Given the description of an element on the screen output the (x, y) to click on. 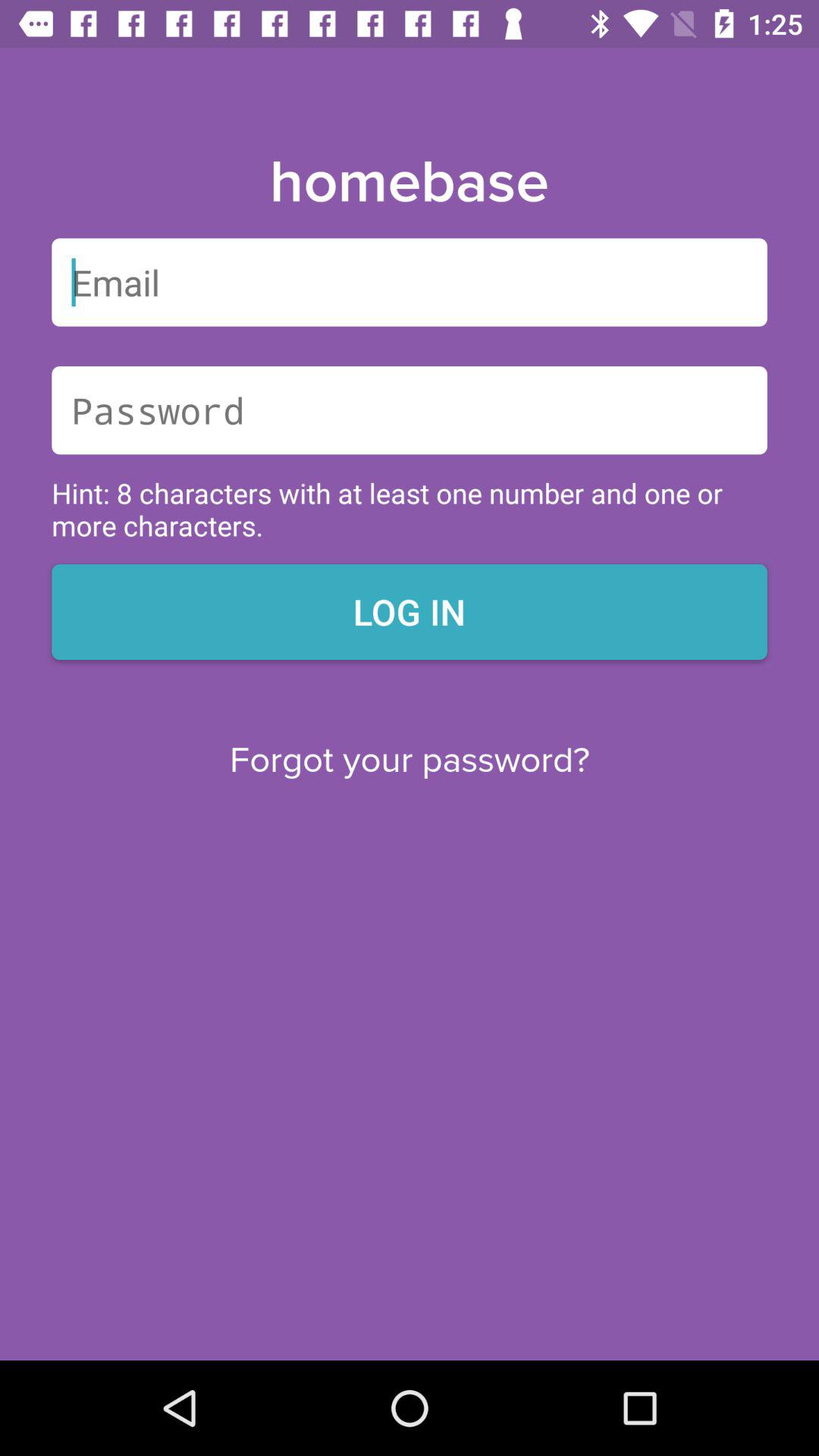
email address (409, 282)
